Given the description of an element on the screen output the (x, y) to click on. 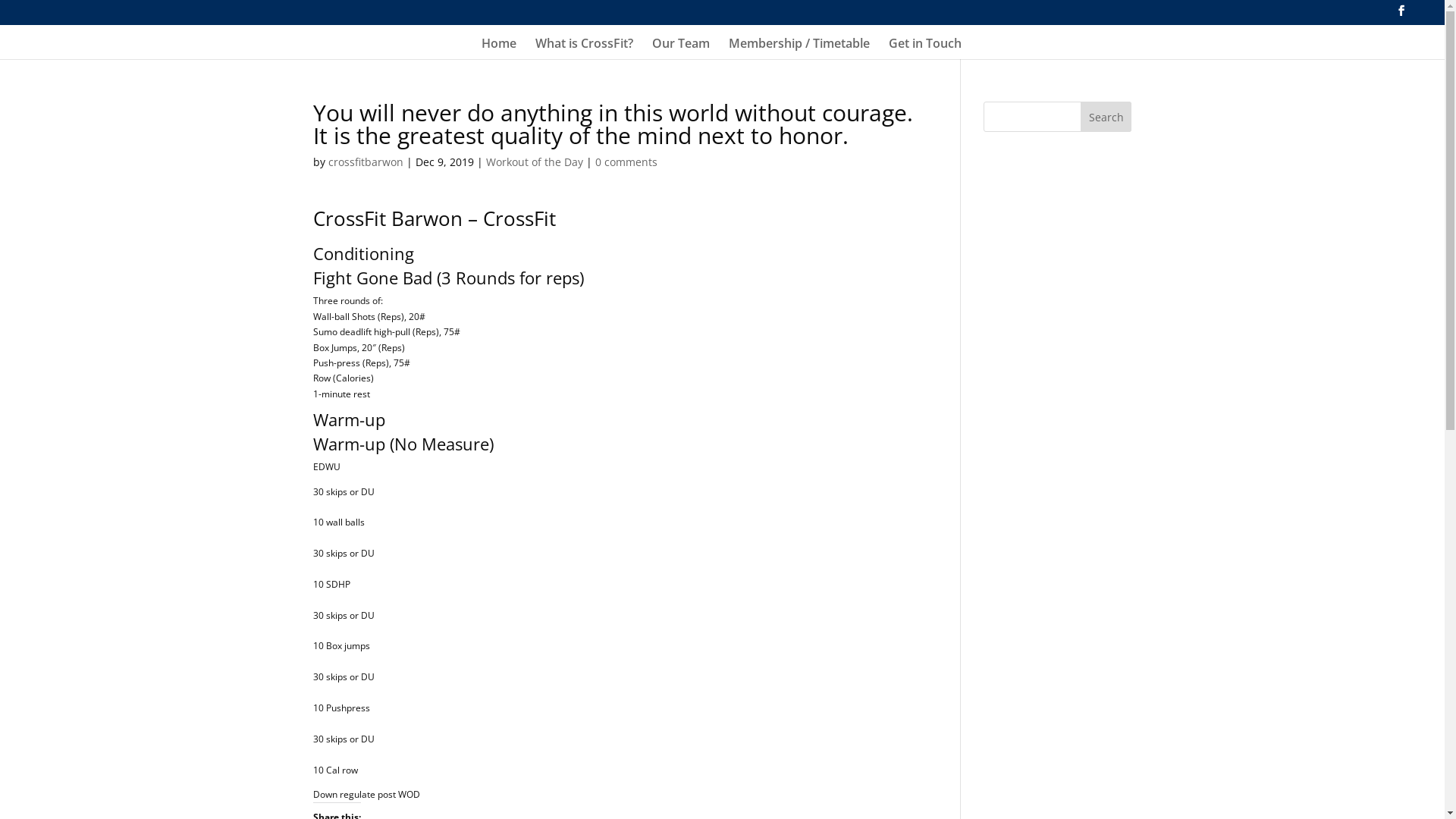
Membership / Timetable Element type: text (798, 47)
Home Element type: text (498, 47)
Get in Touch Element type: text (924, 47)
Our Team Element type: text (680, 47)
Workout of the Day Element type: text (533, 161)
0 comments Element type: text (625, 161)
Search Element type: text (1106, 116)
crossfitbarwon Element type: text (364, 161)
Skip to content Element type: text (0, 0)
What is CrossFit? Element type: text (584, 47)
